Given the description of an element on the screen output the (x, y) to click on. 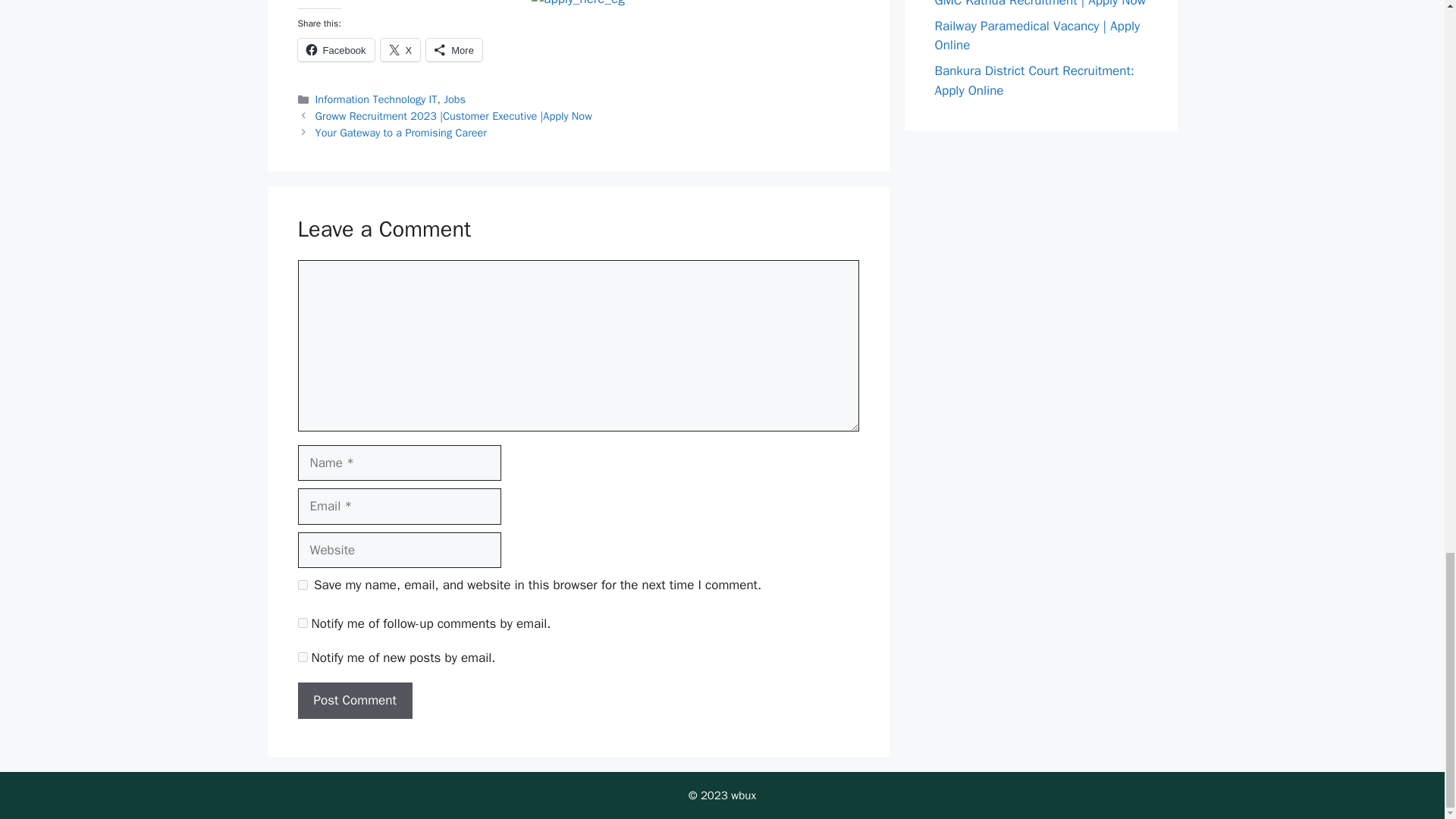
yes (302, 584)
X (400, 48)
Facebook (335, 48)
Click to share on Facebook (335, 48)
subscribe (302, 623)
More (453, 48)
Click to share on X (400, 48)
Post Comment (354, 700)
subscribe (302, 656)
